Given the description of an element on the screen output the (x, y) to click on. 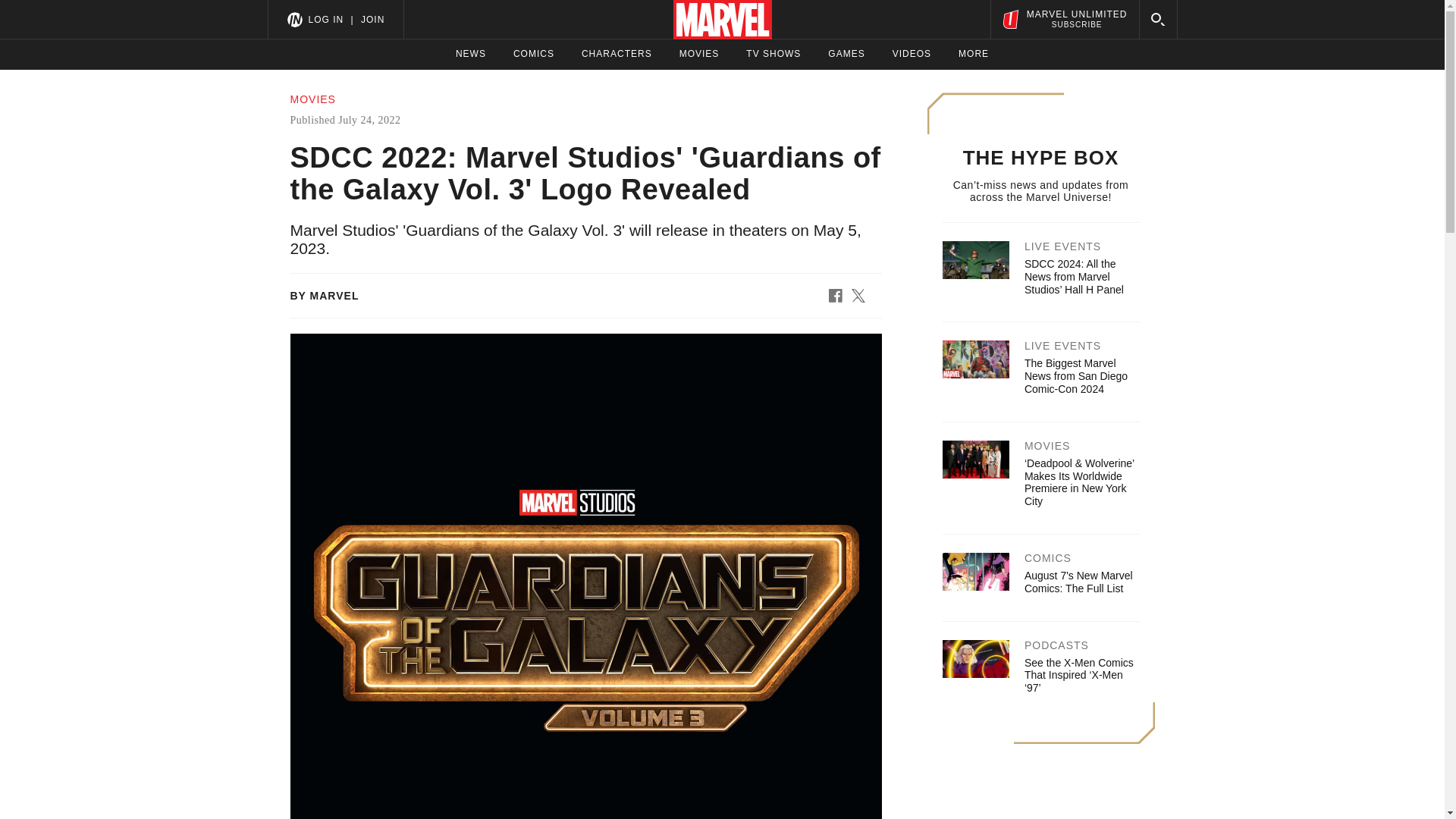
MORE (973, 54)
The Biggest Marvel News from San Diego Comic-Con 2024 (1075, 375)
VIDEOS (911, 54)
NEWS (470, 54)
LOG IN (325, 18)
COMICS (533, 54)
August 7's New Marvel Comics: The Full List (1078, 581)
CHARACTERS (616, 54)
JOIN (372, 18)
MOVIES (699, 54)
